Given the description of an element on the screen output the (x, y) to click on. 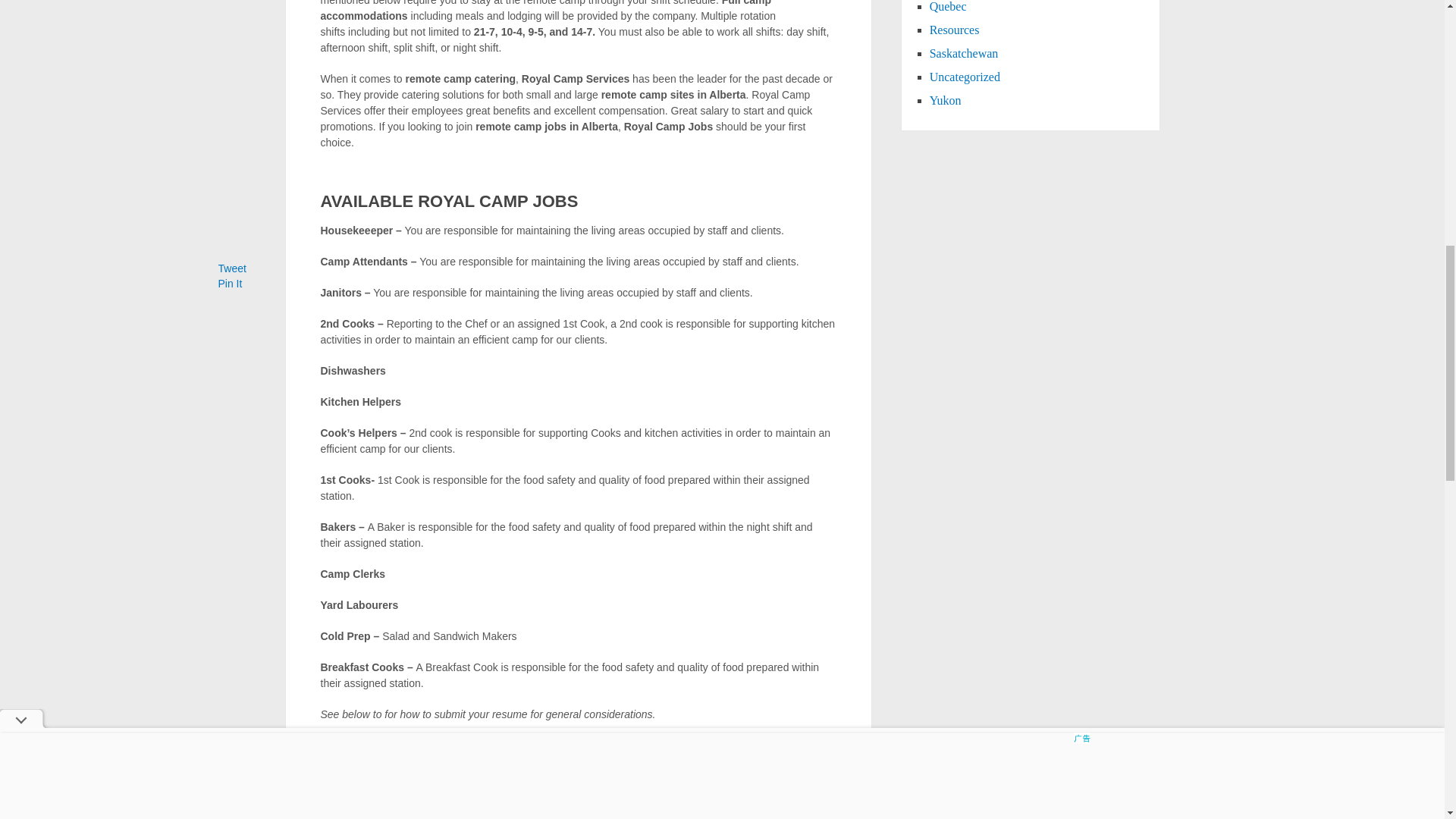
here (330, 793)
